Given the description of an element on the screen output the (x, y) to click on. 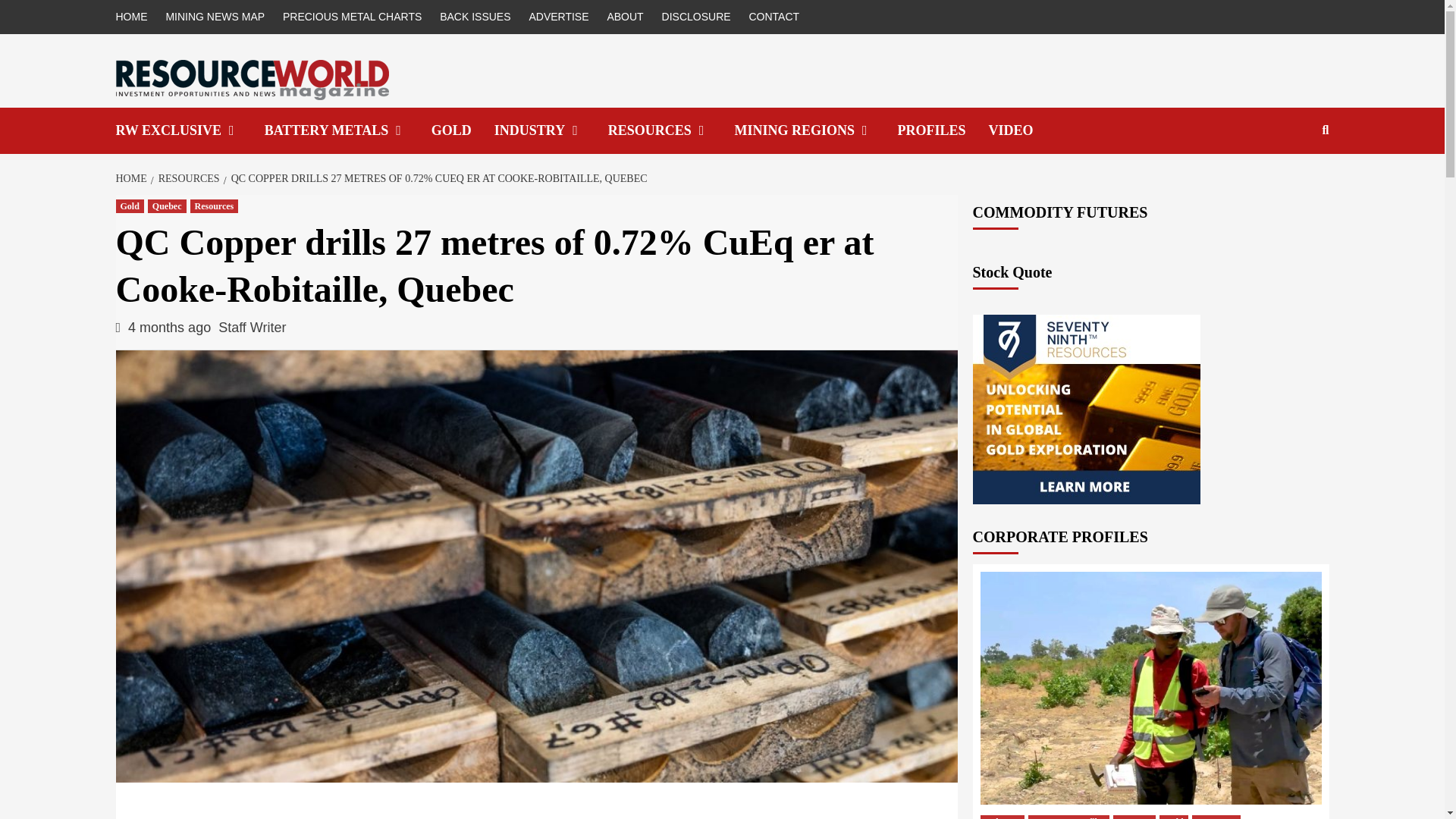
RW EXCLUSIVE (189, 130)
NEW!! (1022, 130)
DISCLOSURE (695, 17)
GOLD (462, 130)
ADVERTISE (558, 17)
BACK ISSUES (475, 17)
RESOURCES (671, 130)
PRECIOUS METAL CHARTS (352, 17)
INDUSTRY (551, 130)
CONTACT (773, 17)
HOME (134, 17)
Original Editorial by Resource World. (189, 130)
ABOUT (624, 17)
MINING NEWS MAP (214, 17)
BATTERY METALS (347, 130)
